Given the description of an element on the screen output the (x, y) to click on. 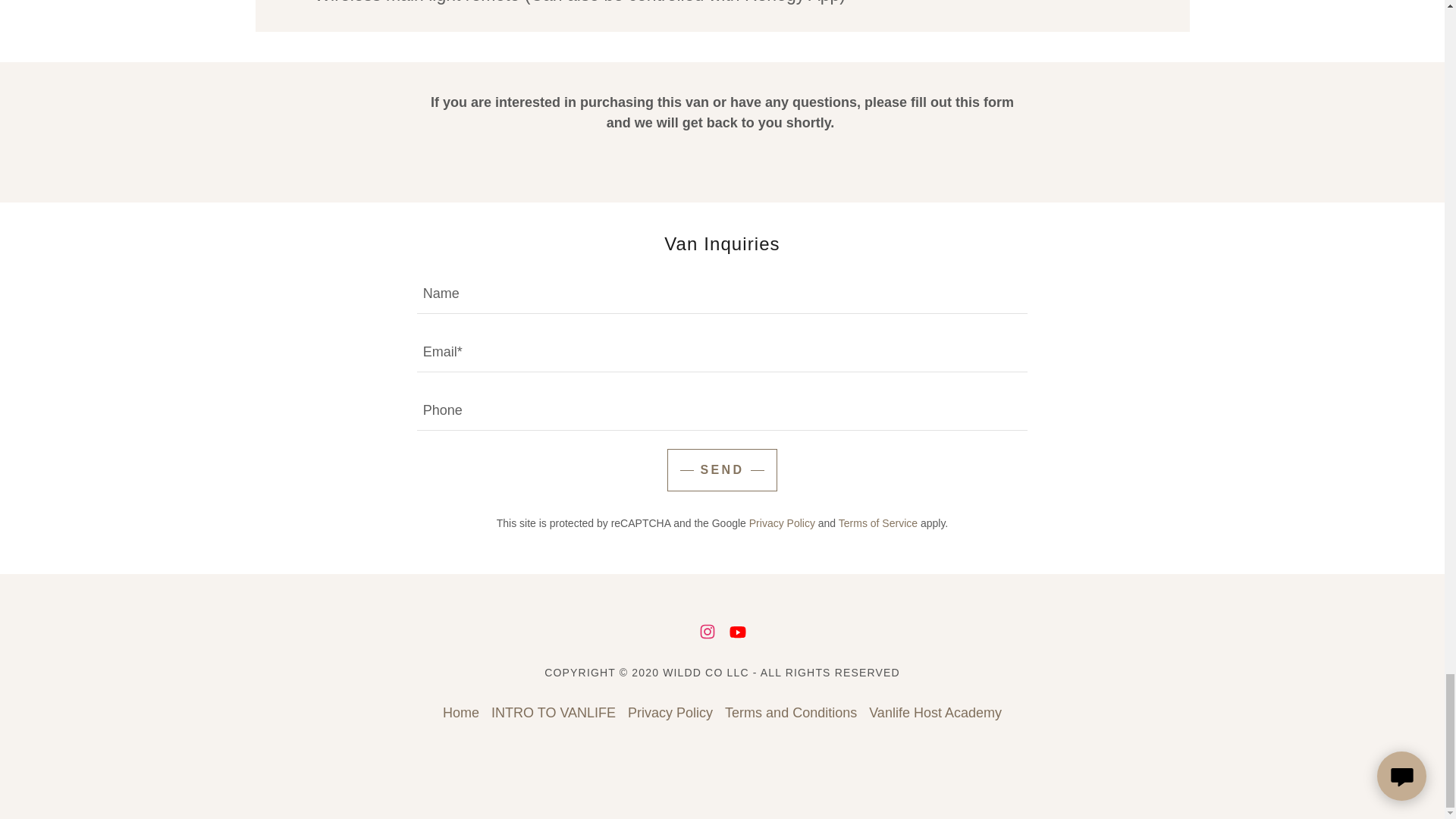
INTRO TO VANLIFE (552, 713)
Privacy Policy (670, 713)
Home (460, 713)
Privacy Policy (782, 522)
Terms of Service (877, 522)
Terms and Conditions (791, 713)
Vanlife Host Academy (935, 713)
SEND (721, 469)
